Given the description of an element on the screen output the (x, y) to click on. 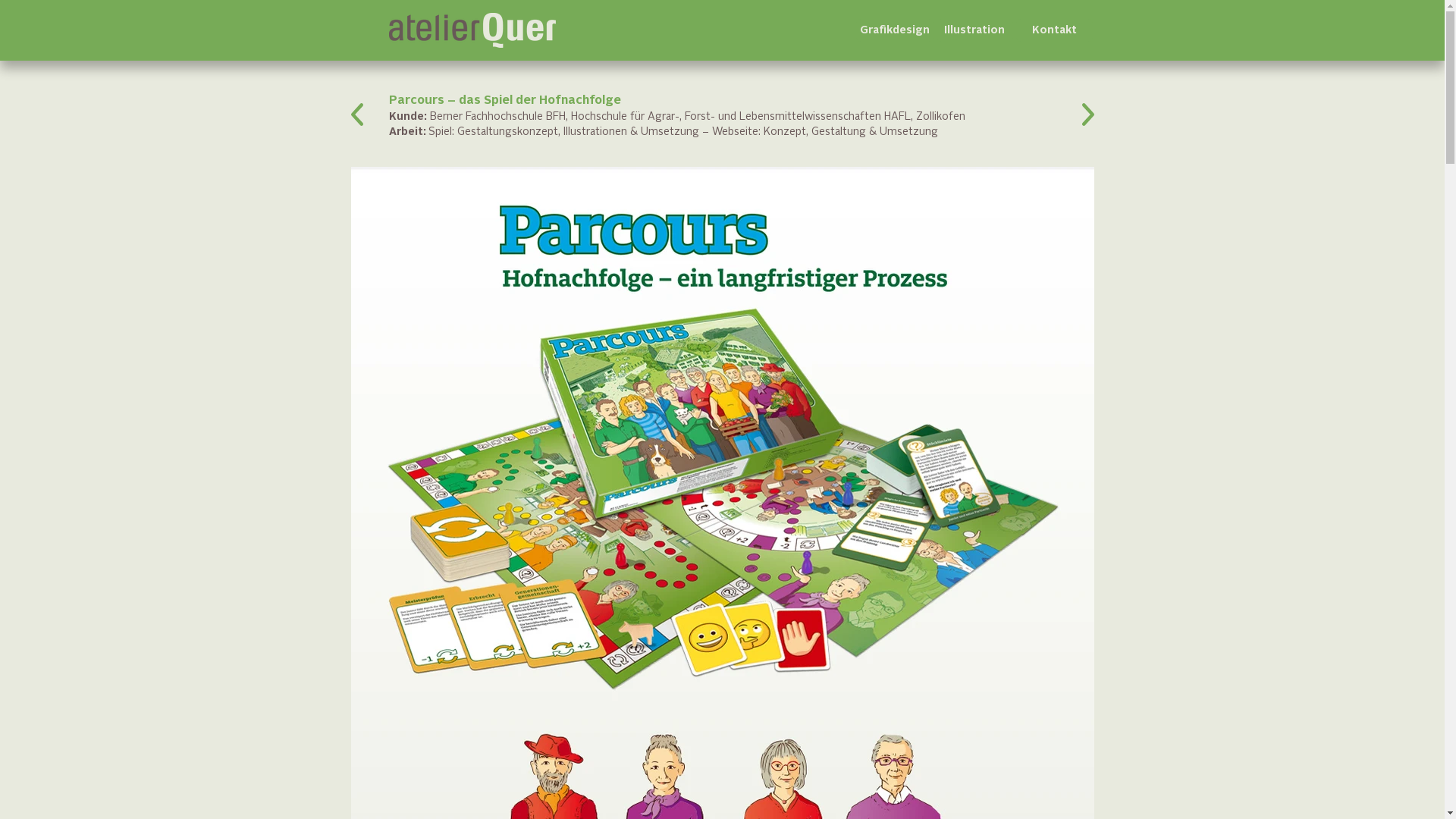
Illustration Element type: text (973, 29)
Grafikdesign Element type: text (893, 29)
Kontakt Element type: text (1054, 29)
